Given the description of an element on the screen output the (x, y) to click on. 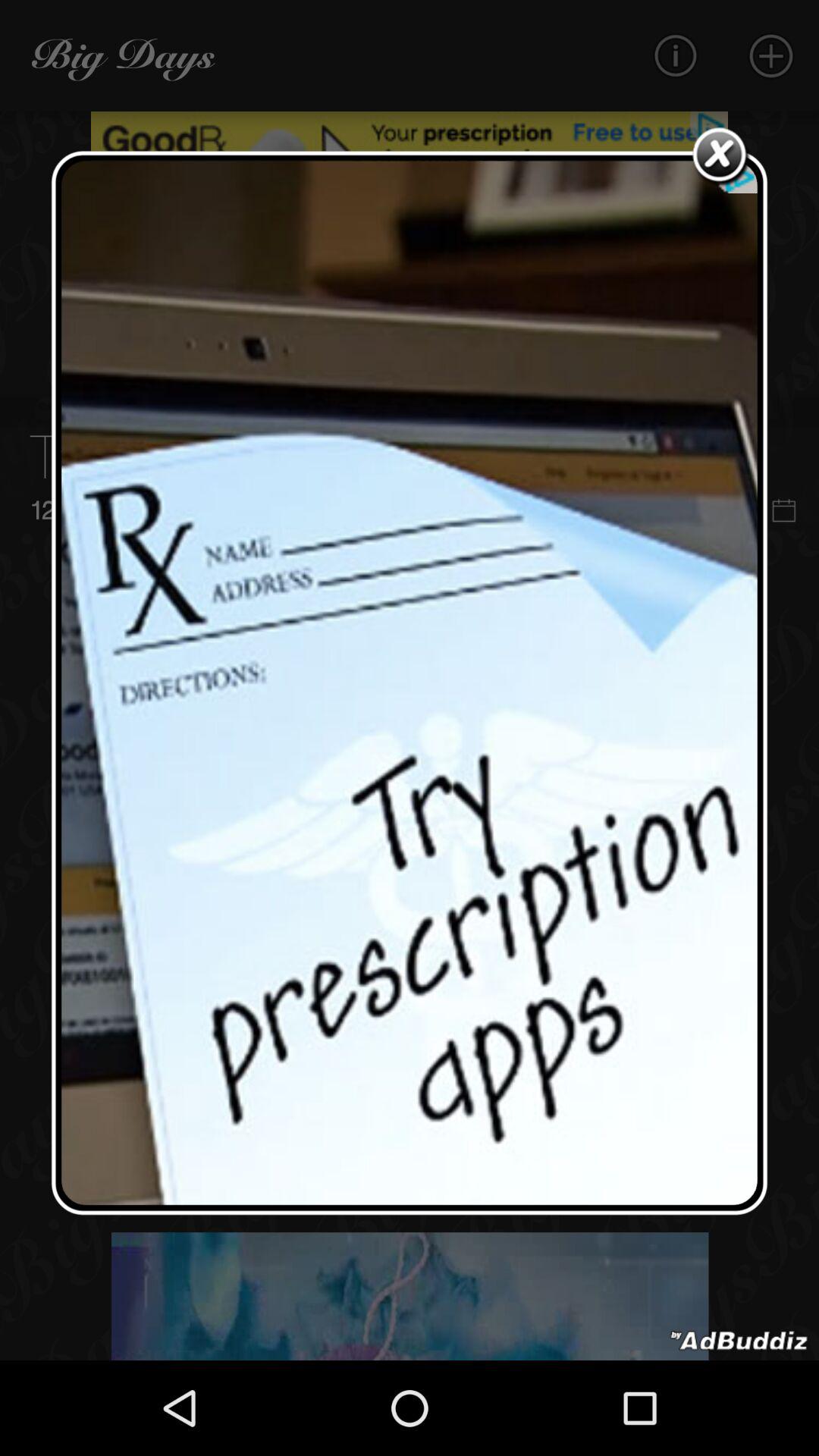
advertisement portion (739, 1340)
